Given the description of an element on the screen output the (x, y) to click on. 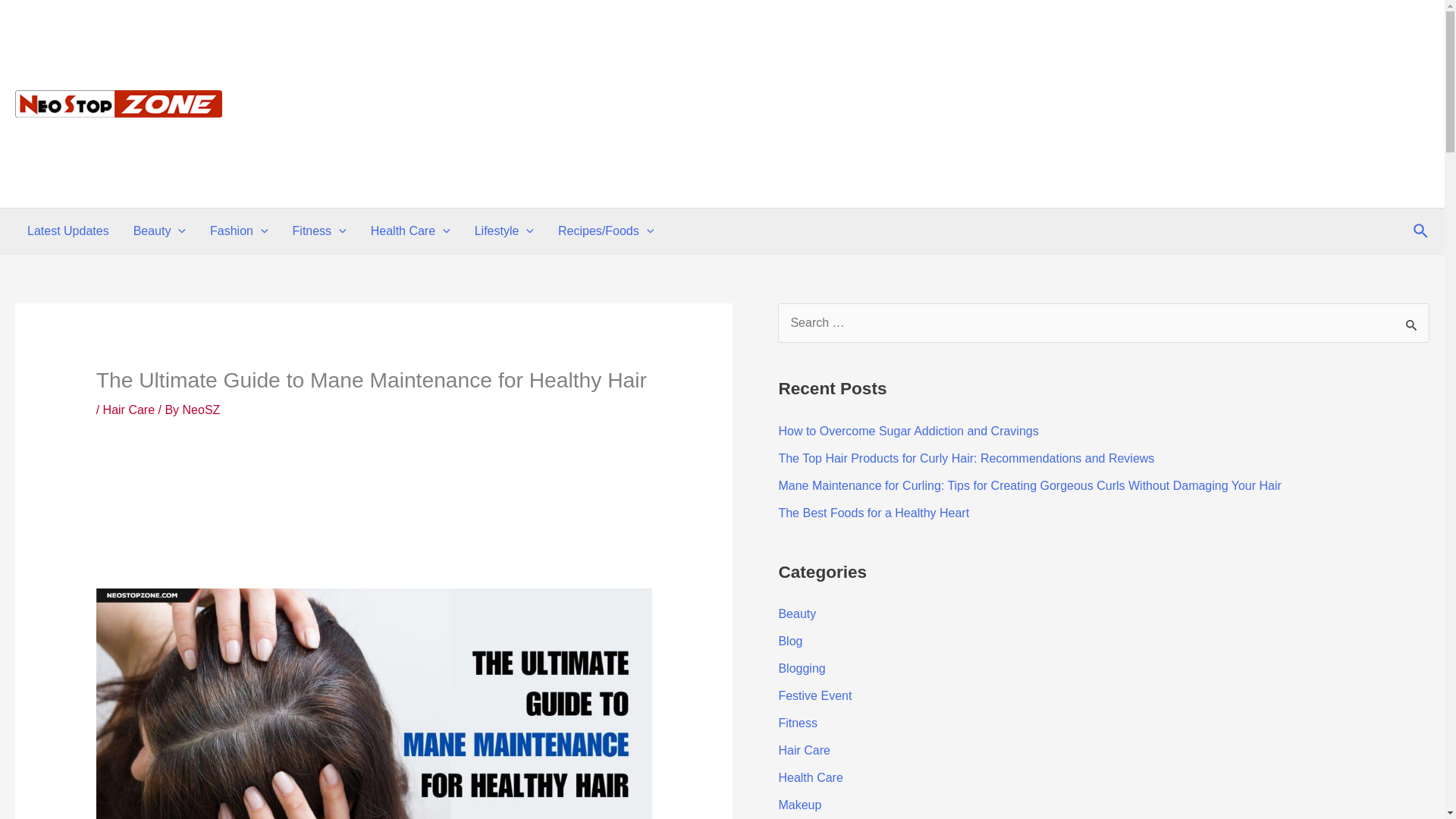
Latest Updates (67, 230)
Search (1411, 324)
Fashion (239, 230)
Fitness (319, 230)
Advertisement (1153, 166)
Search (1411, 324)
Beauty (159, 230)
View all posts by NeoSZ (202, 409)
Advertisement (374, 512)
